Given the description of an element on the screen output the (x, y) to click on. 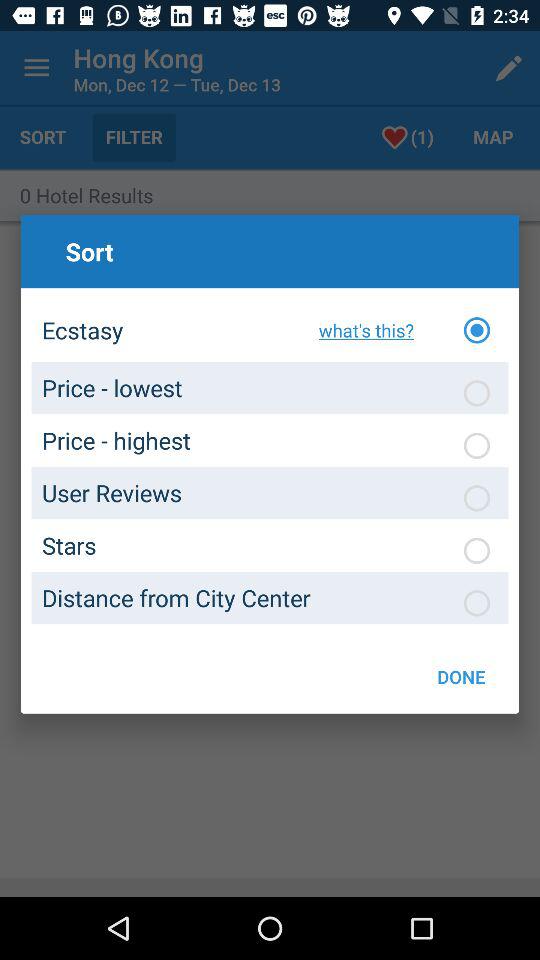
sort by highest price (477, 445)
